Given the description of an element on the screen output the (x, y) to click on. 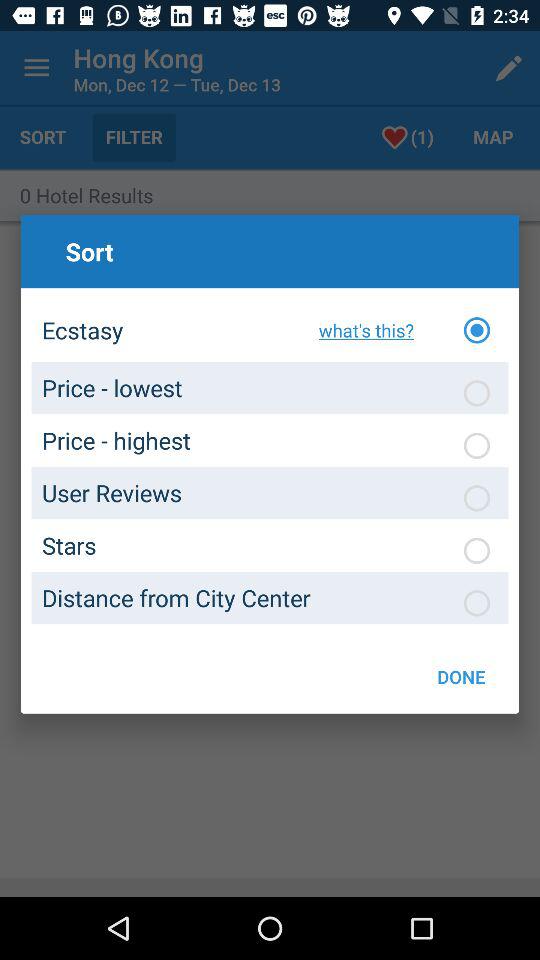
sort by highest price (477, 445)
